Given the description of an element on the screen output the (x, y) to click on. 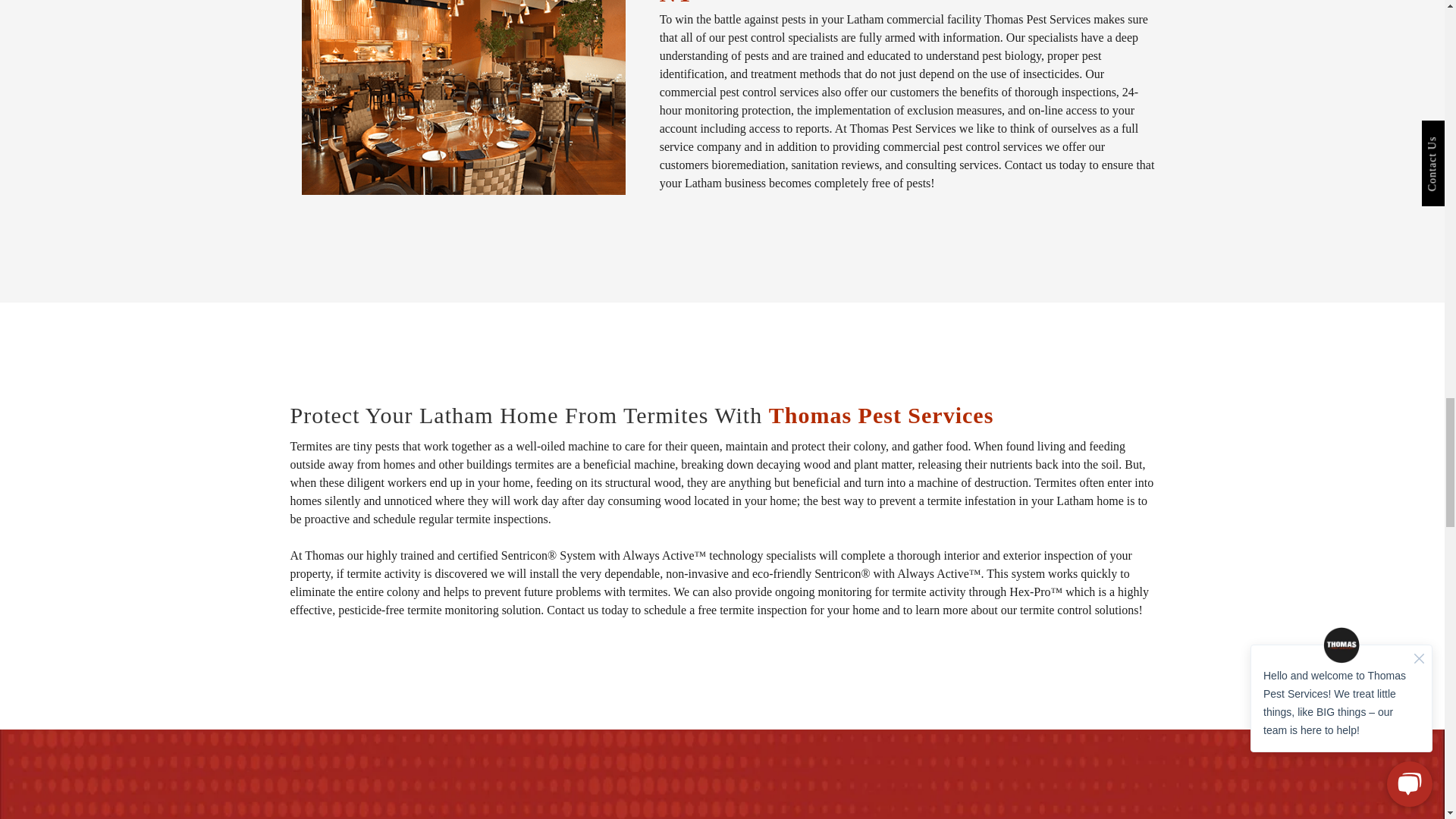
restaurant-in-latham-ny (463, 97)
